Given the description of an element on the screen output the (x, y) to click on. 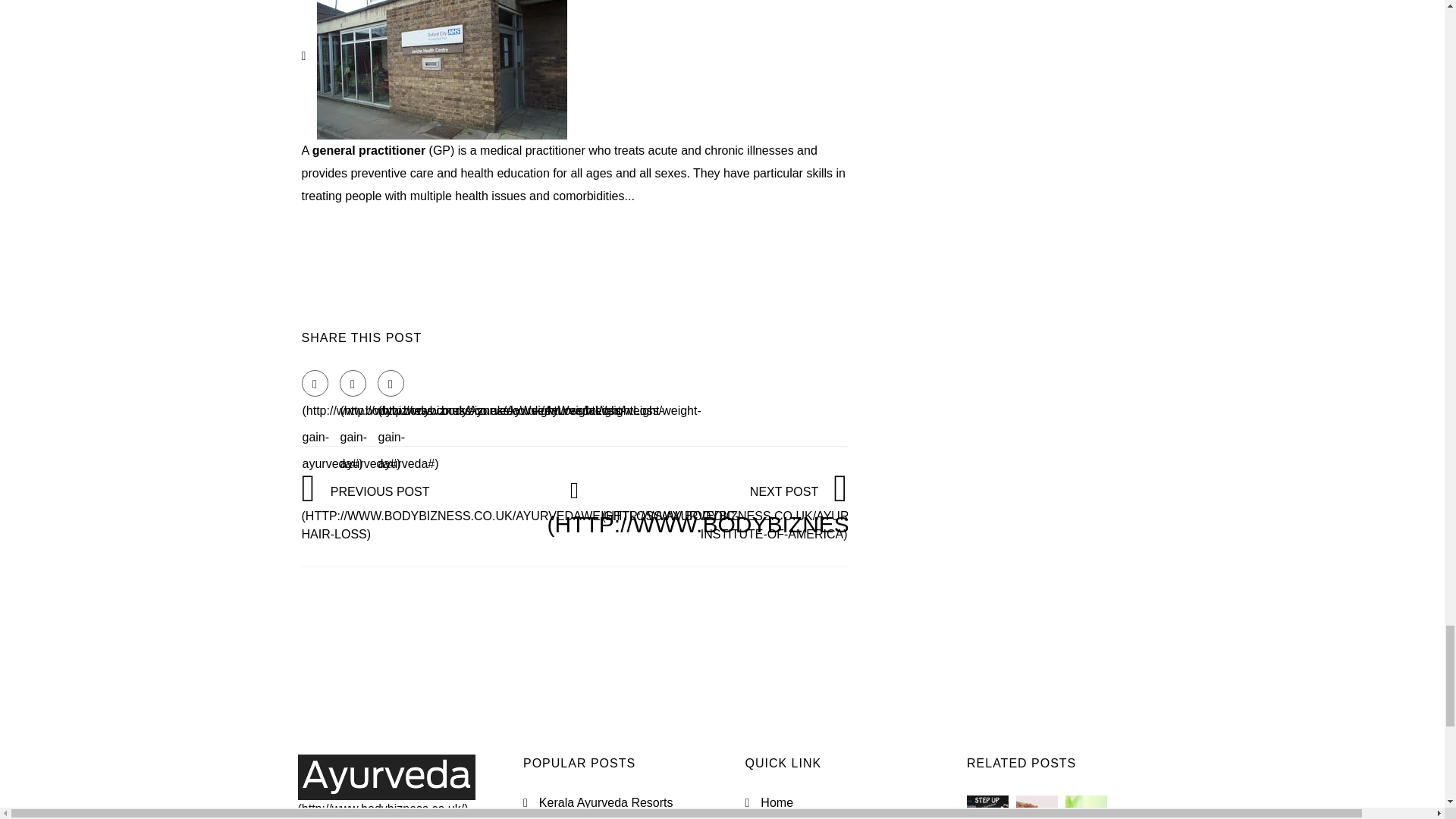
Google Plus (390, 383)
Facebook (315, 383)
Twitter (352, 383)
